Given the description of an element on the screen output the (x, y) to click on. 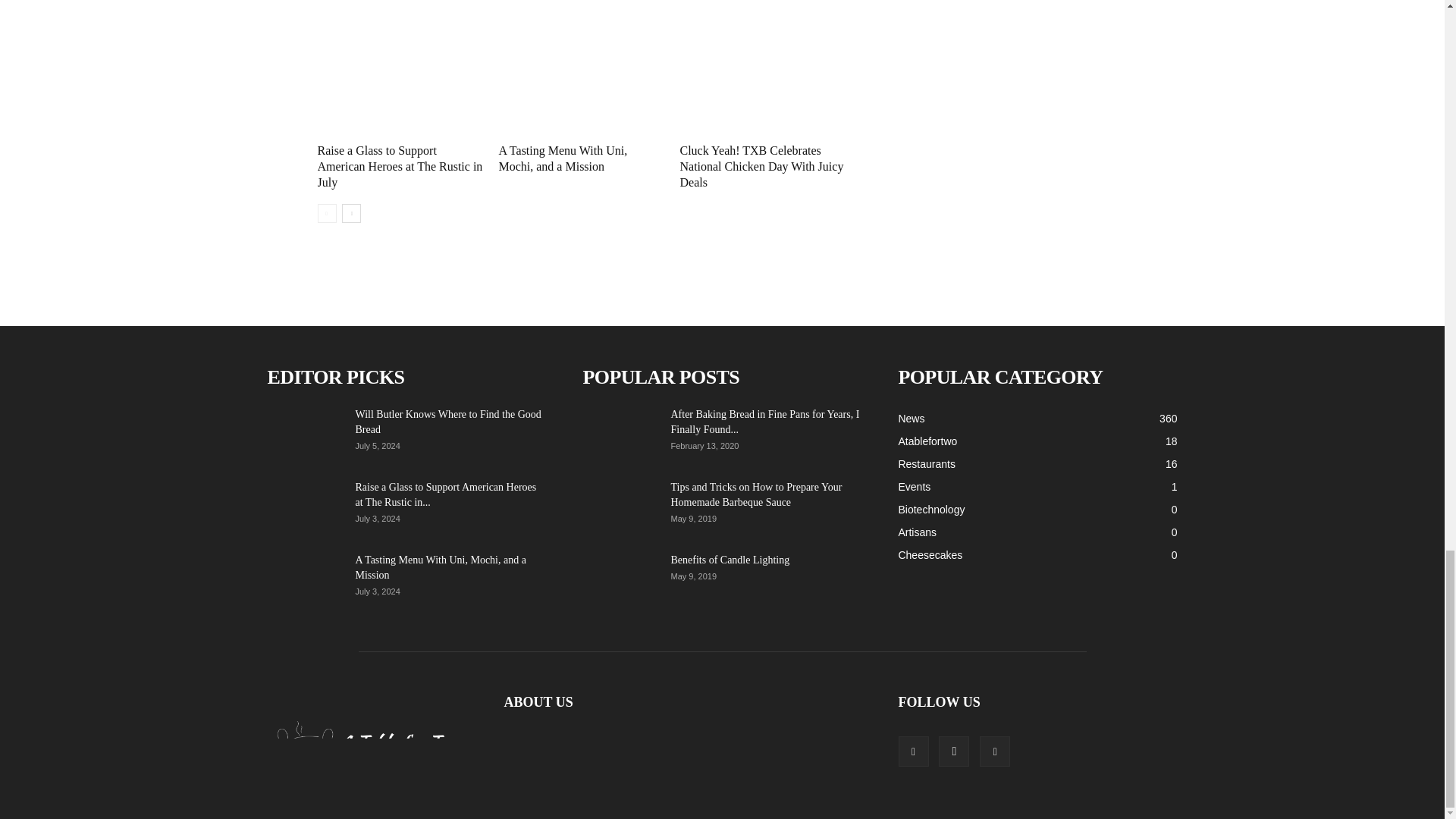
A Tasting Menu With Uni, Mochi, and a Mission (580, 81)
A Tasting Menu With Uni, Mochi, and a Mission (562, 158)
Will Butler Knows Where to Find the Good Bread (304, 433)
Will Butler Knows Where to Find the Good Bread (447, 421)
